Given the description of an element on the screen output the (x, y) to click on. 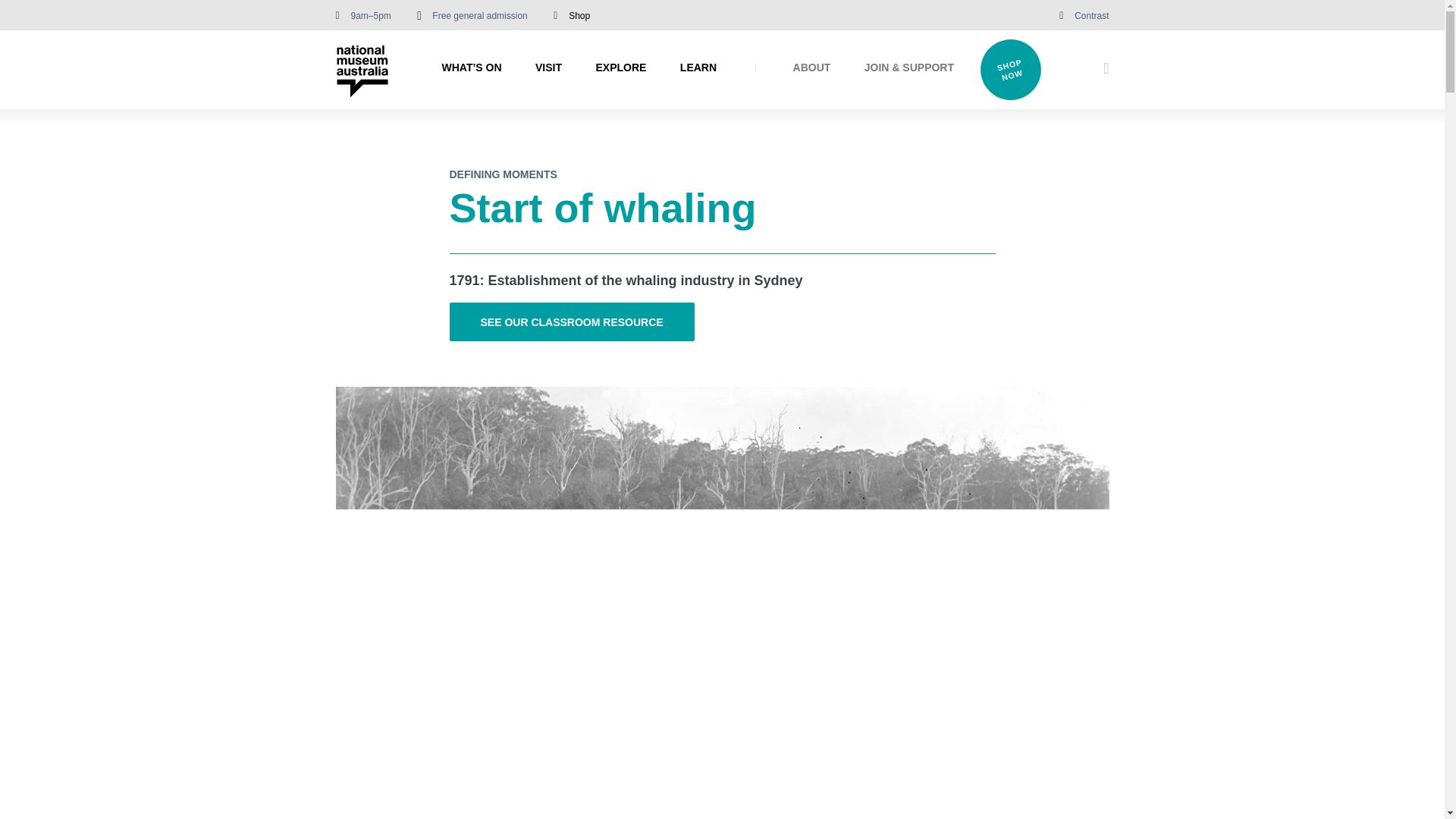
Contrast (1091, 16)
Shop (579, 15)
Home - The National Museum of Australia (361, 71)
